Given the description of an element on the screen output the (x, y) to click on. 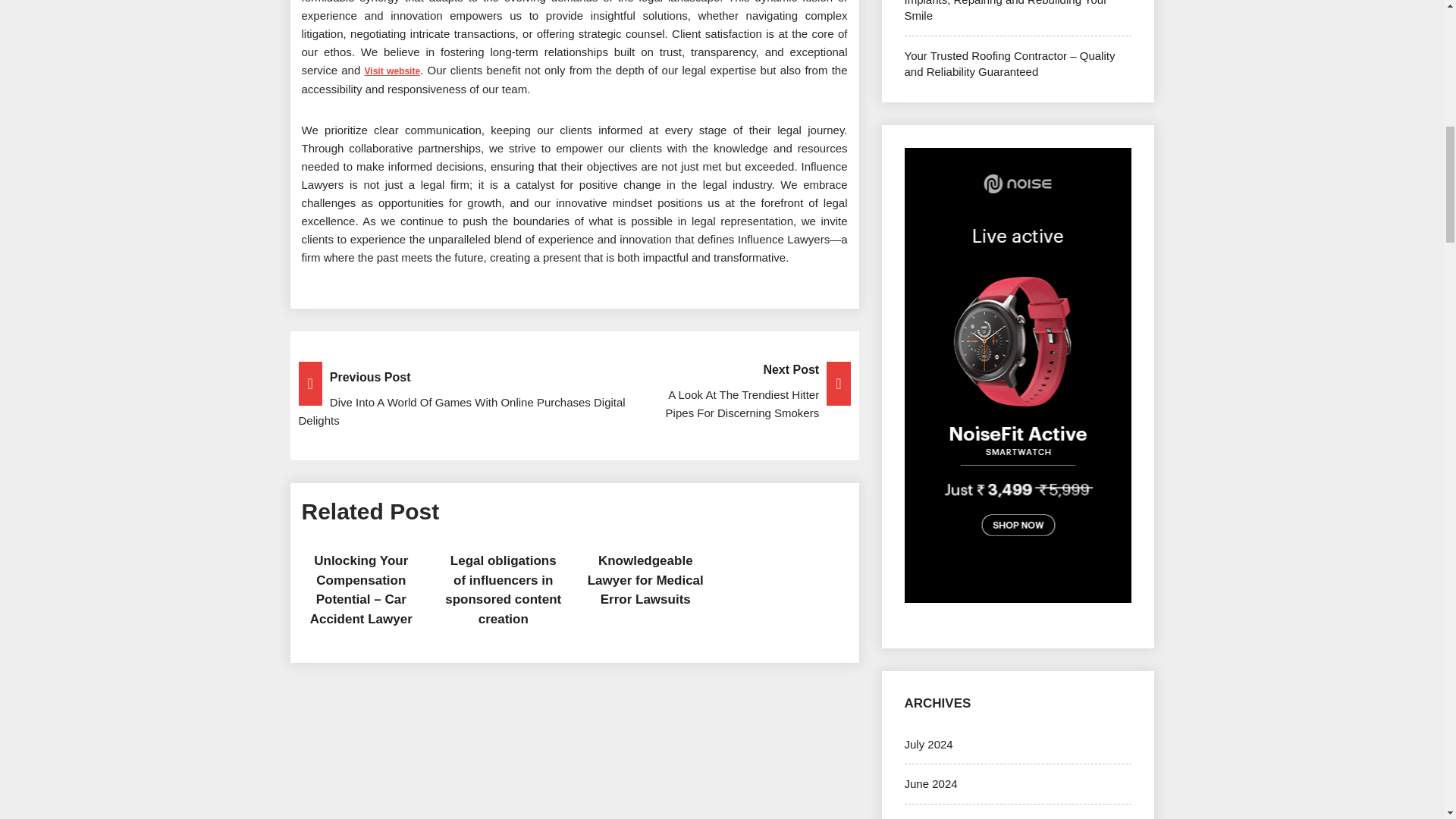
Knowledgeable Lawyer for Medical Error Lawsuits (645, 579)
Visit website (392, 69)
May 2024 (928, 818)
July 2024 (928, 744)
June 2024 (930, 783)
